Given the description of an element on the screen output the (x, y) to click on. 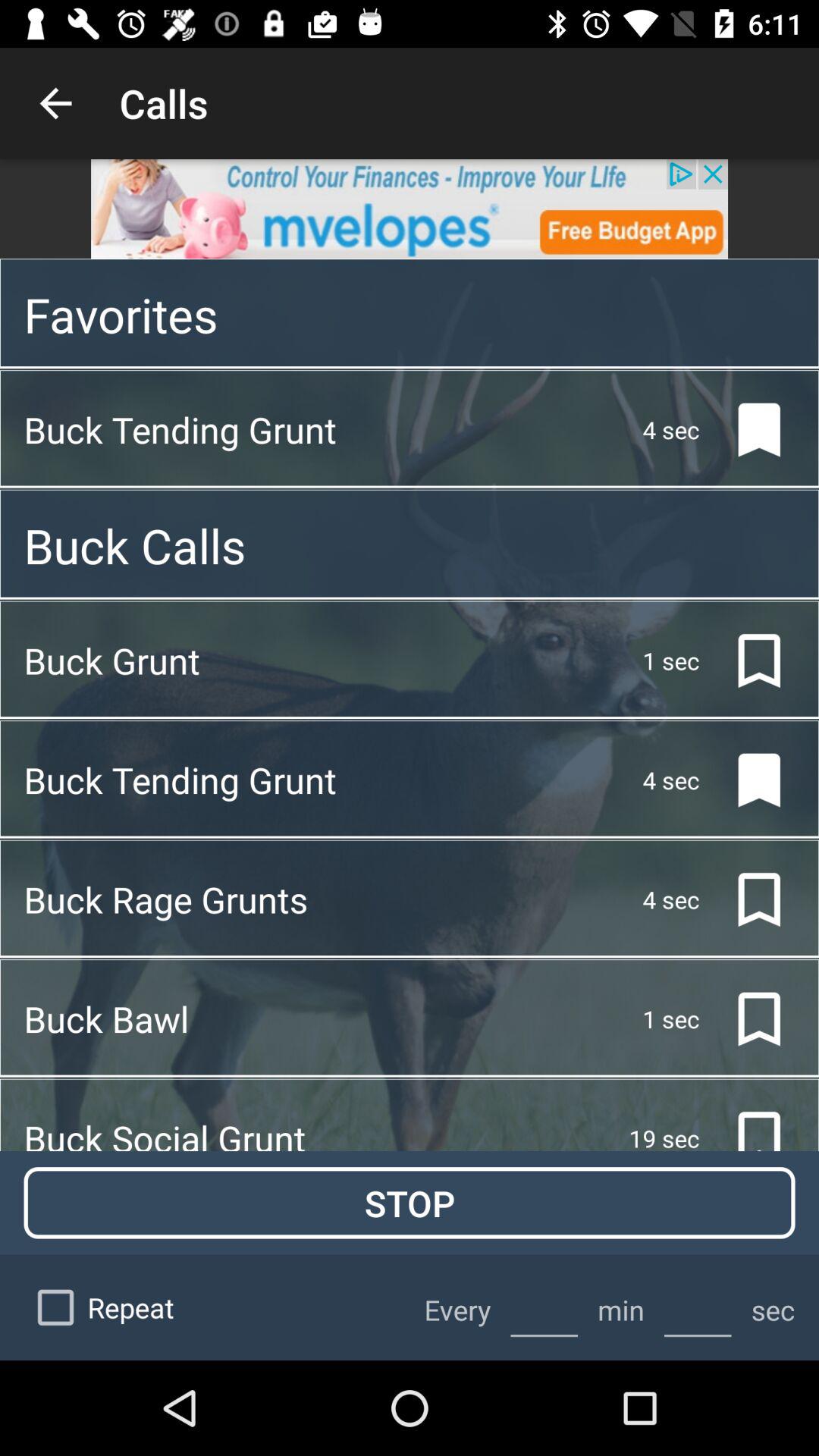
make advertisement (409, 208)
